Given the description of an element on the screen output the (x, y) to click on. 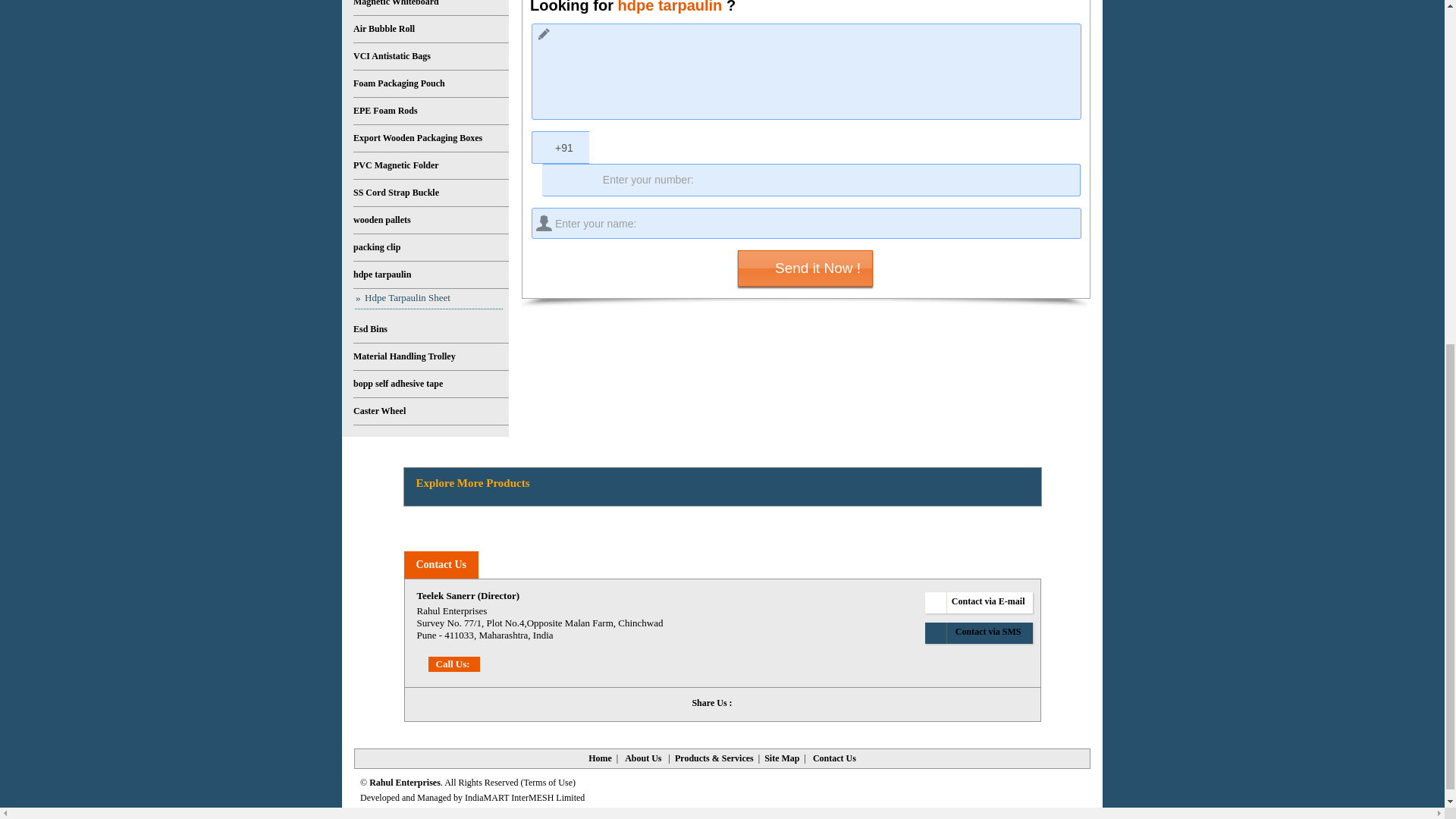
Enter your name: (806, 223)
Send it Now ! (805, 268)
Enter your number: (810, 179)
Send it Now ! (805, 268)
